Given the description of an element on the screen output the (x, y) to click on. 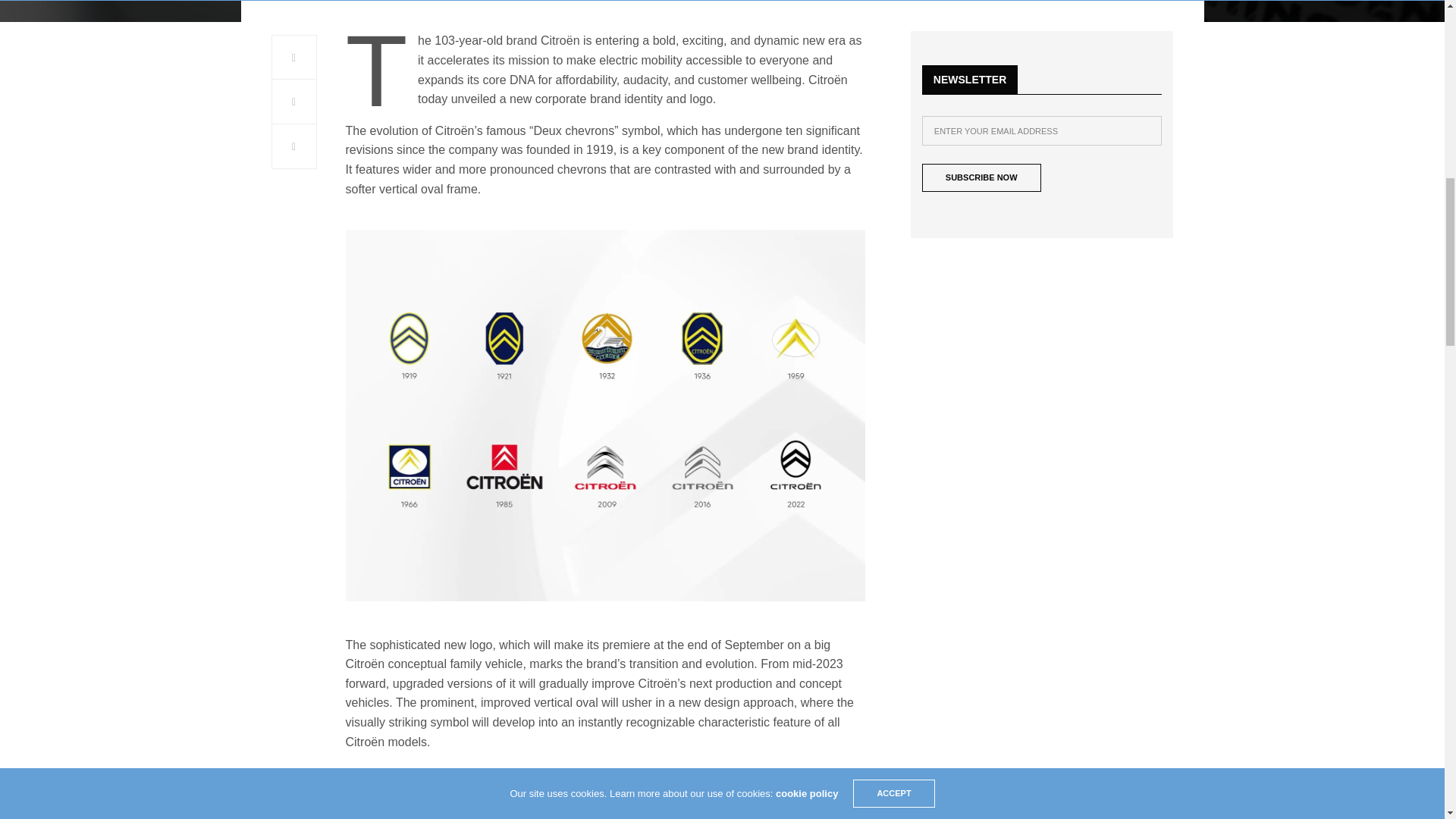
Subscribe Now (981, 177)
